Given the description of an element on the screen output the (x, y) to click on. 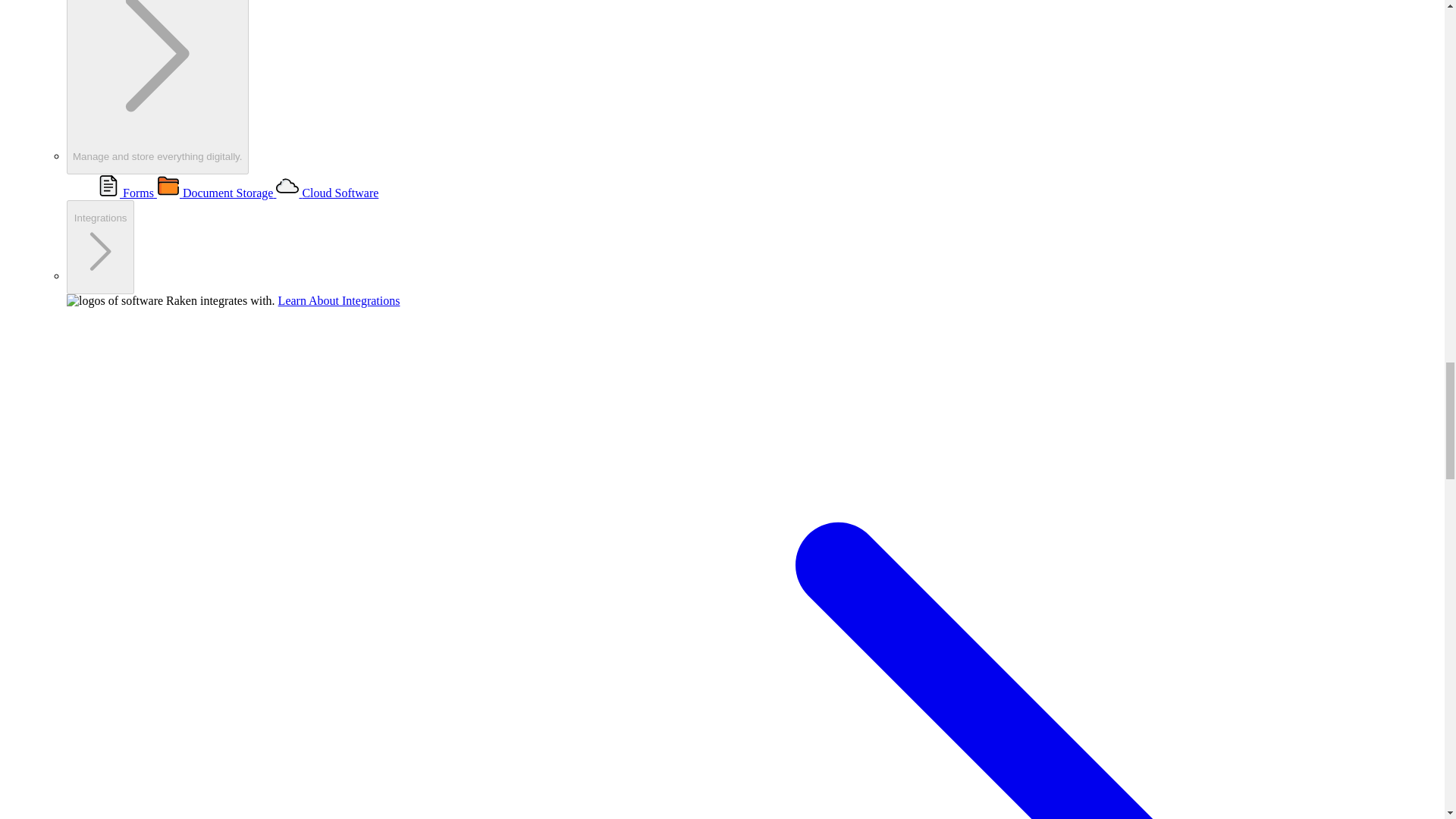
Document Storage (216, 192)
Forms (157, 87)
Cloud Software (127, 192)
